Given the description of an element on the screen output the (x, y) to click on. 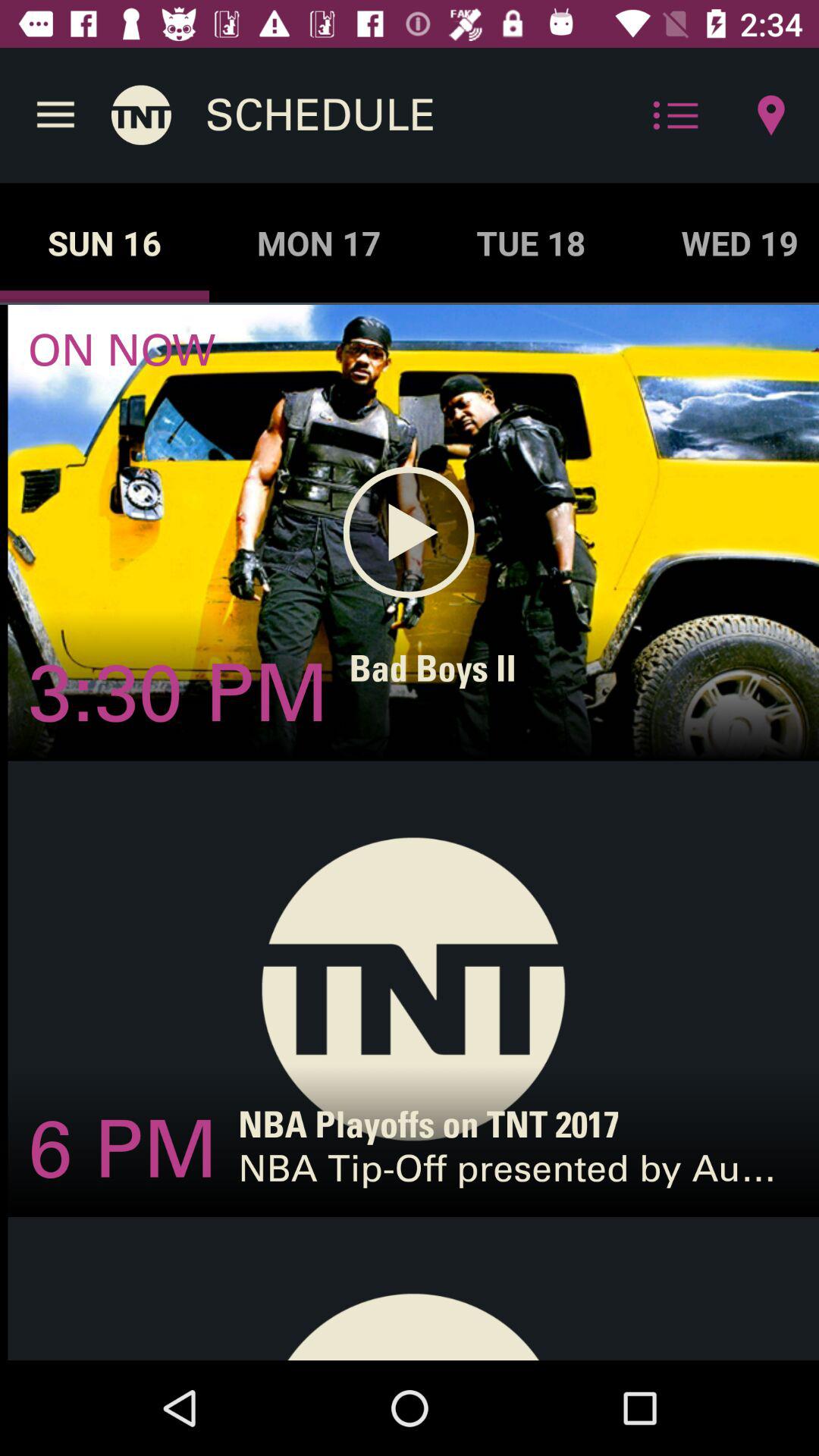
turn off icon next to the mon 17 item (530, 242)
